Given the description of an element on the screen output the (x, y) to click on. 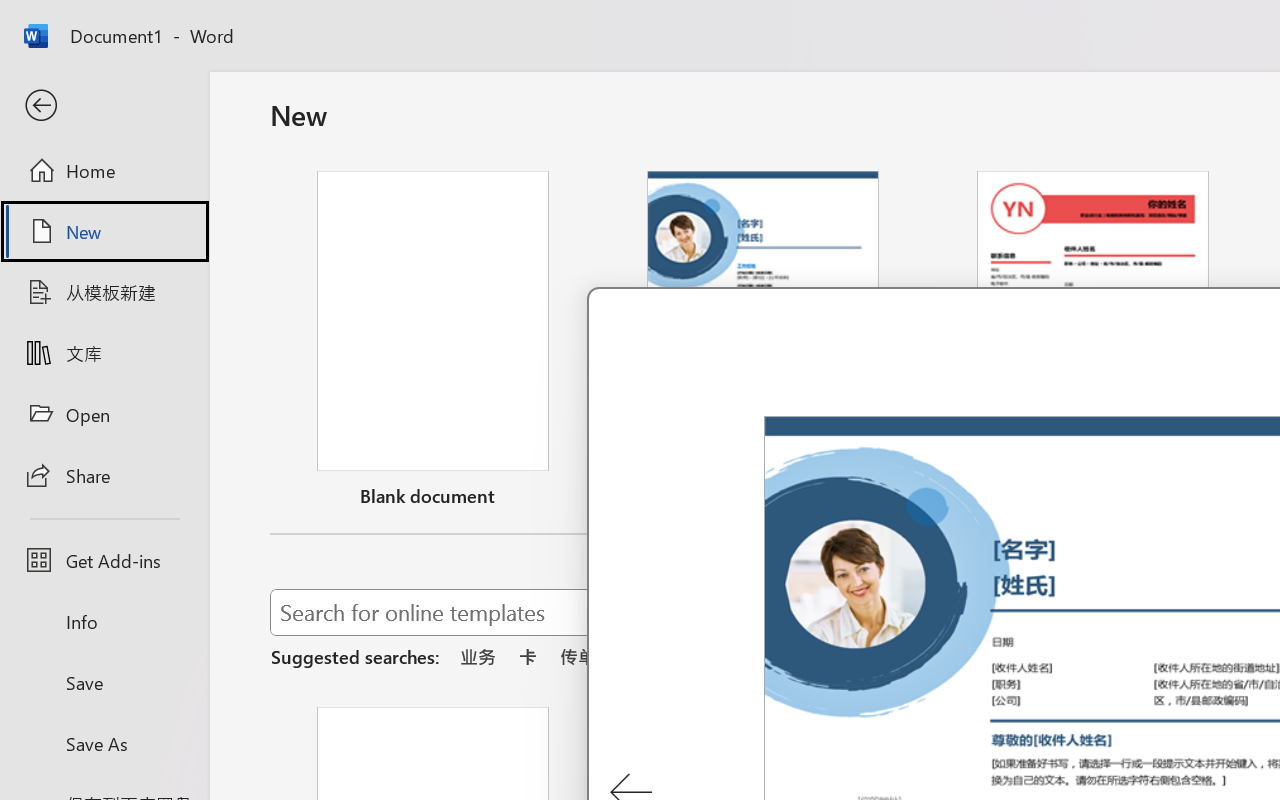
Blank document (433, 343)
Start searching (1178, 612)
Save As (104, 743)
New (104, 231)
